Given the description of an element on the screen output the (x, y) to click on. 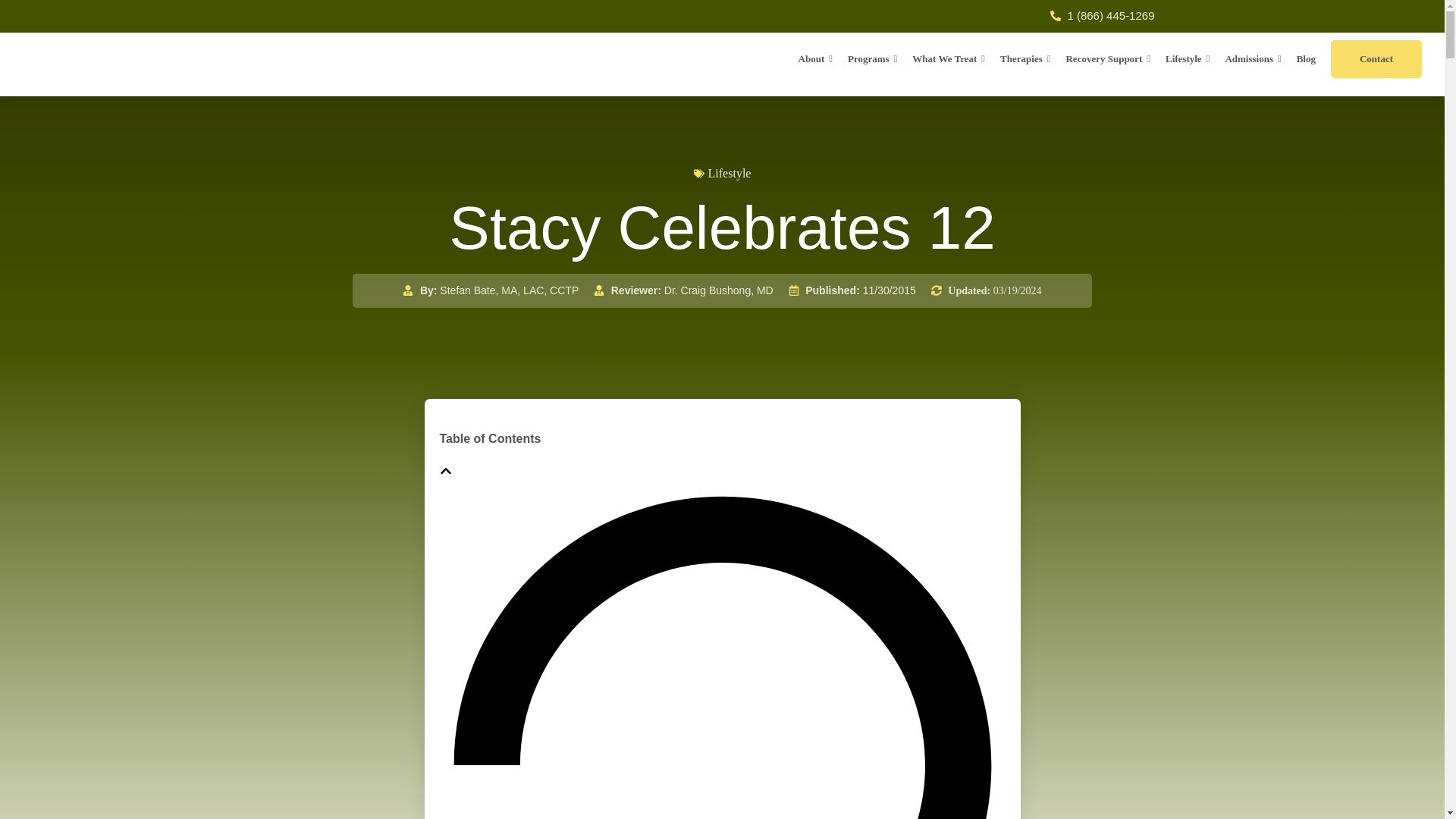
Programs (872, 57)
Jaywalker - Mens Drug Rehab in Colorado - Jaywalker (114, 63)
What We Treat (948, 57)
About (815, 57)
